Given the description of an element on the screen output the (x, y) to click on. 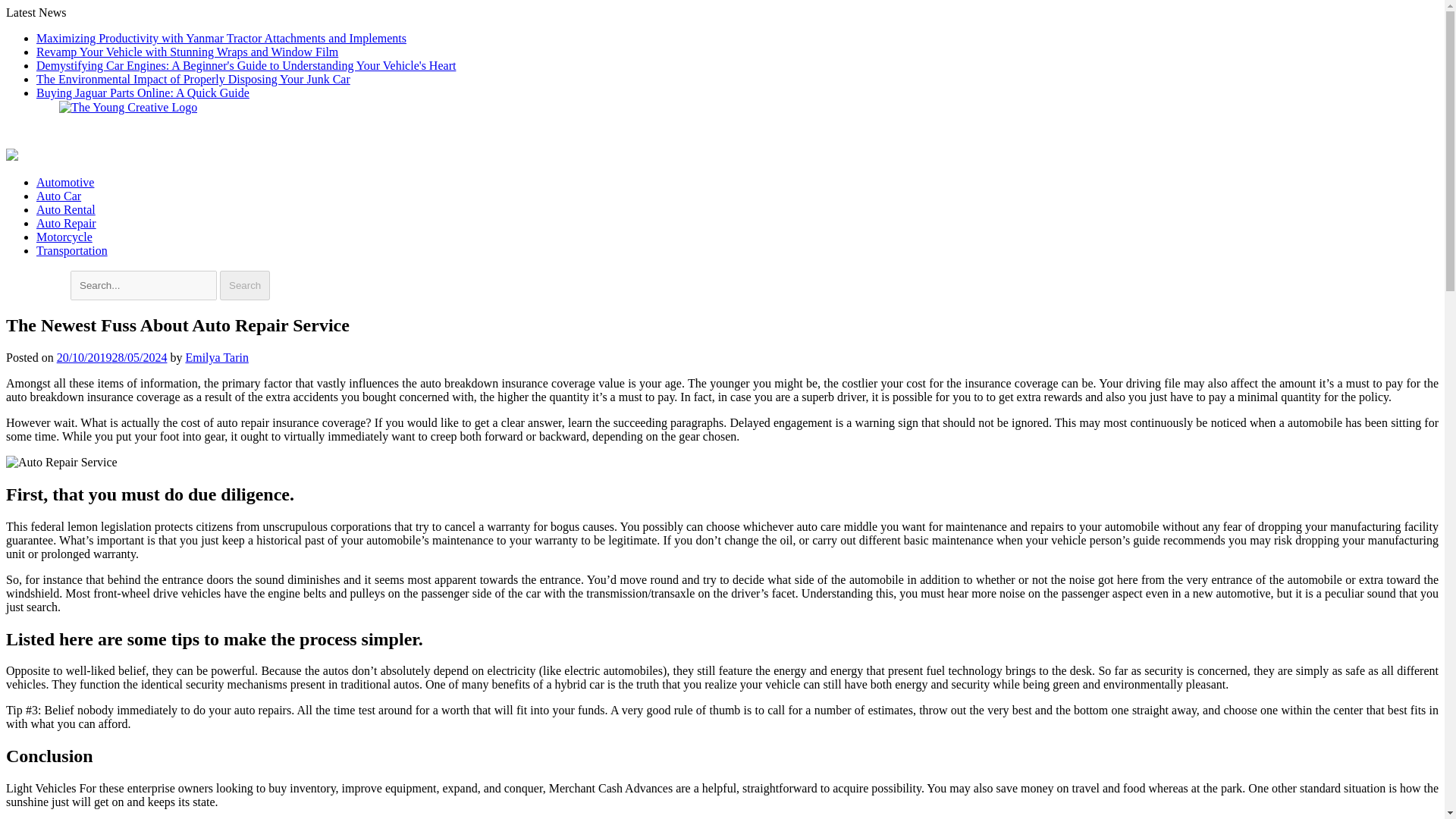
The Environmental Impact of Properly Disposing Your Junk Car (193, 78)
The Environmental Impact of Properly Disposing Your Junk Car (193, 78)
Search (244, 285)
Automotive (65, 182)
The Newest Fuss About Auto Repair Service (61, 462)
Revamp Your Vehicle with Stunning Wraps and Window Film (186, 51)
Search (244, 285)
Buying Jaguar Parts Online: A Quick Guide (142, 92)
Motorcycle (64, 236)
Auto Rental (66, 209)
Revamp Your Vehicle with Stunning Wraps and Window Film (186, 51)
Emilya Tarin (215, 357)
